Given the description of an element on the screen output the (x, y) to click on. 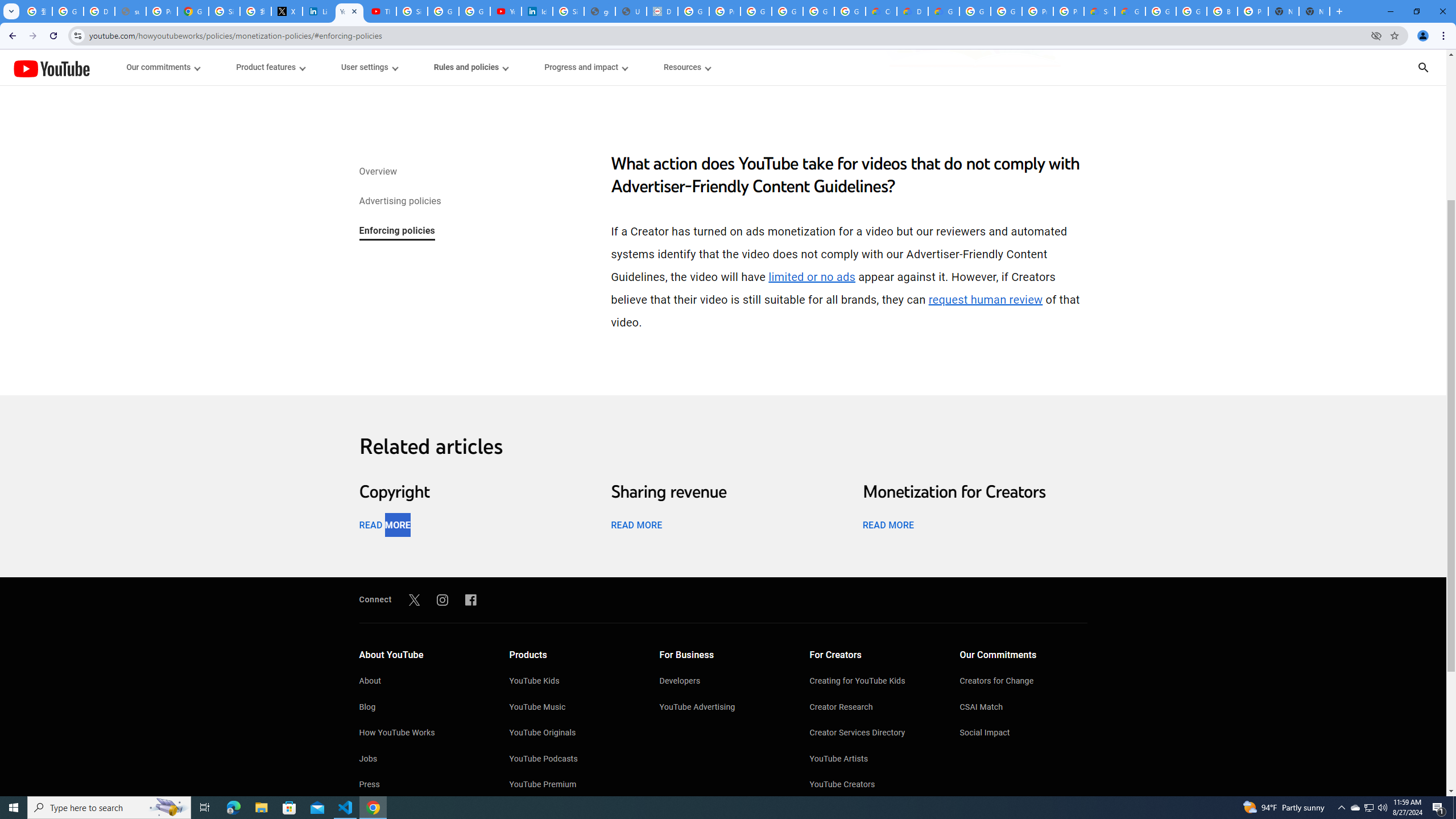
YouTube Premium (573, 785)
READ MORE (887, 524)
Creator Services Directory (873, 733)
Google Cloud Platform (1190, 11)
Google Cloud Platform (1005, 11)
Google Workspace - Specific Terms (818, 11)
YouTube Kids (573, 682)
request human review (985, 300)
YouTube Originals (573, 733)
Sign in - Google Accounts (223, 11)
X (286, 11)
